Given the description of an element on the screen output the (x, y) to click on. 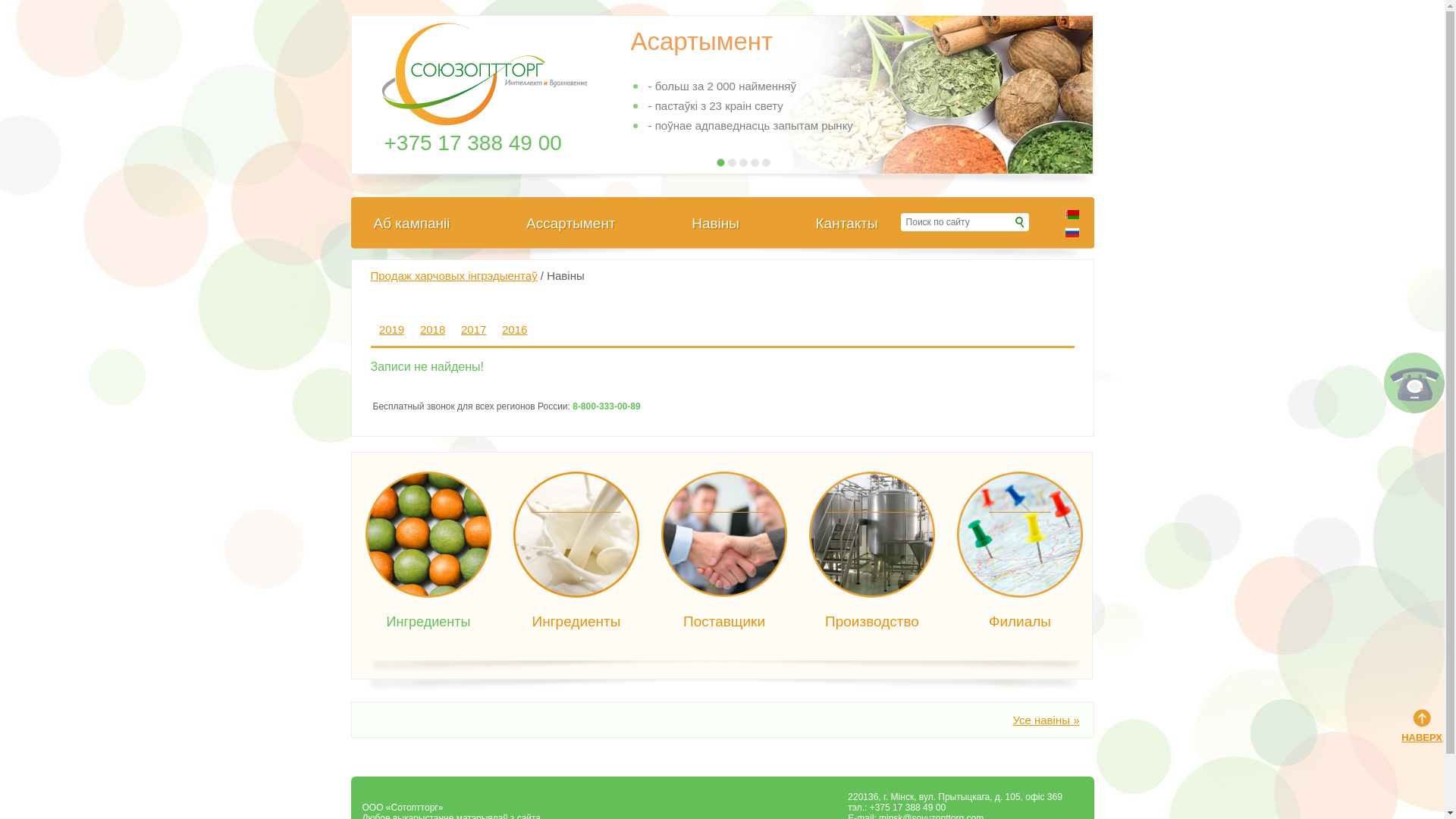
by Element type: hover (1072, 213)
2016 Element type: text (514, 329)
ru Element type: hover (1072, 231)
2018 Element type: text (432, 329)
+375 17 388 49 00 Element type: text (472, 142)
2019 Element type: text (391, 329)
8-800-333-00-89 Element type: text (613, 406)
2017 Element type: text (473, 329)
